Given the description of an element on the screen output the (x, y) to click on. 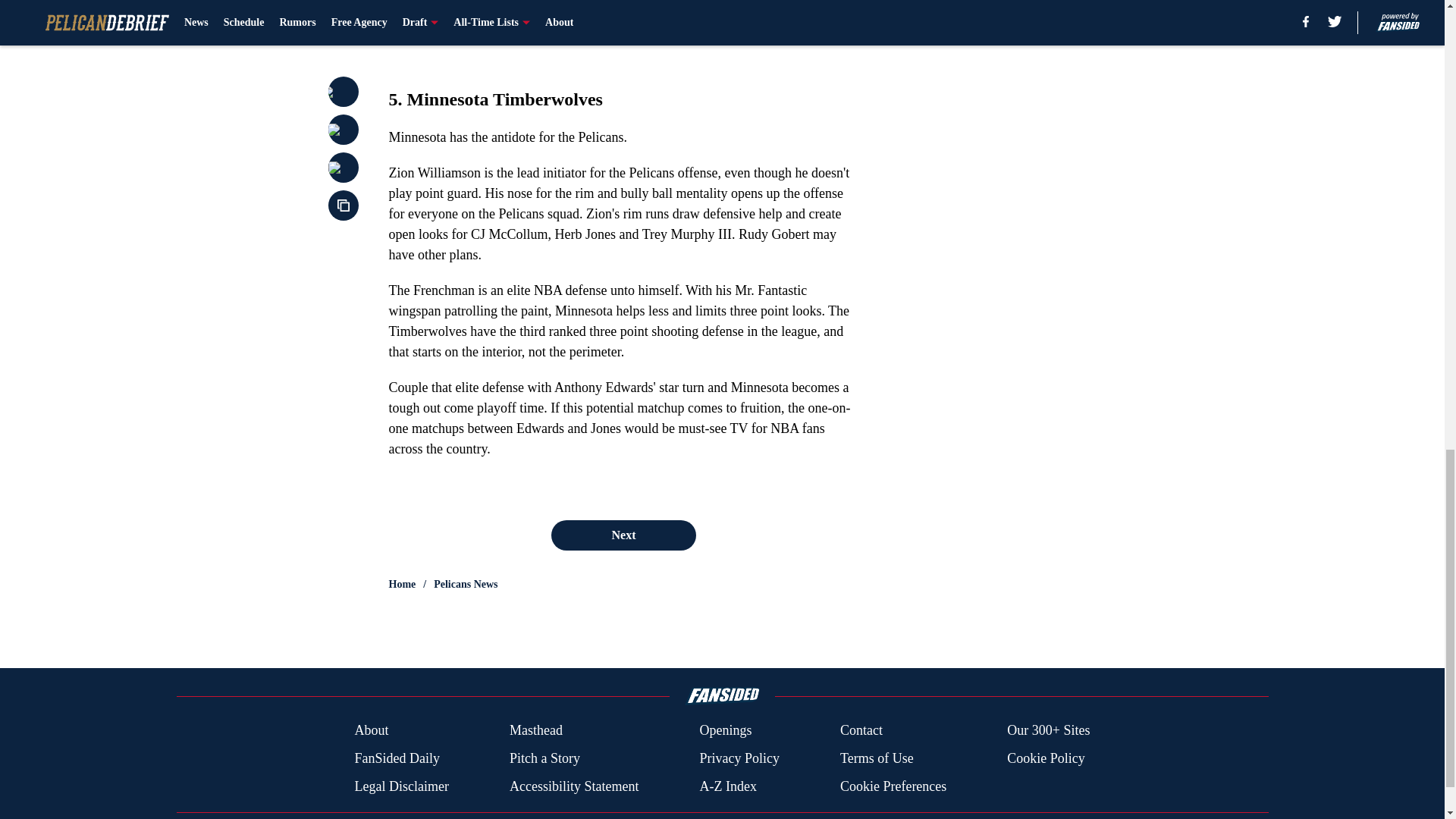
FanSided Daily (396, 758)
Next (622, 535)
Pitch a Story (544, 758)
Openings (724, 730)
Masthead (535, 730)
Home (401, 584)
Pelicans News (465, 584)
Contact (861, 730)
About (370, 730)
Privacy Policy (738, 758)
